Given the description of an element on the screen output the (x, y) to click on. 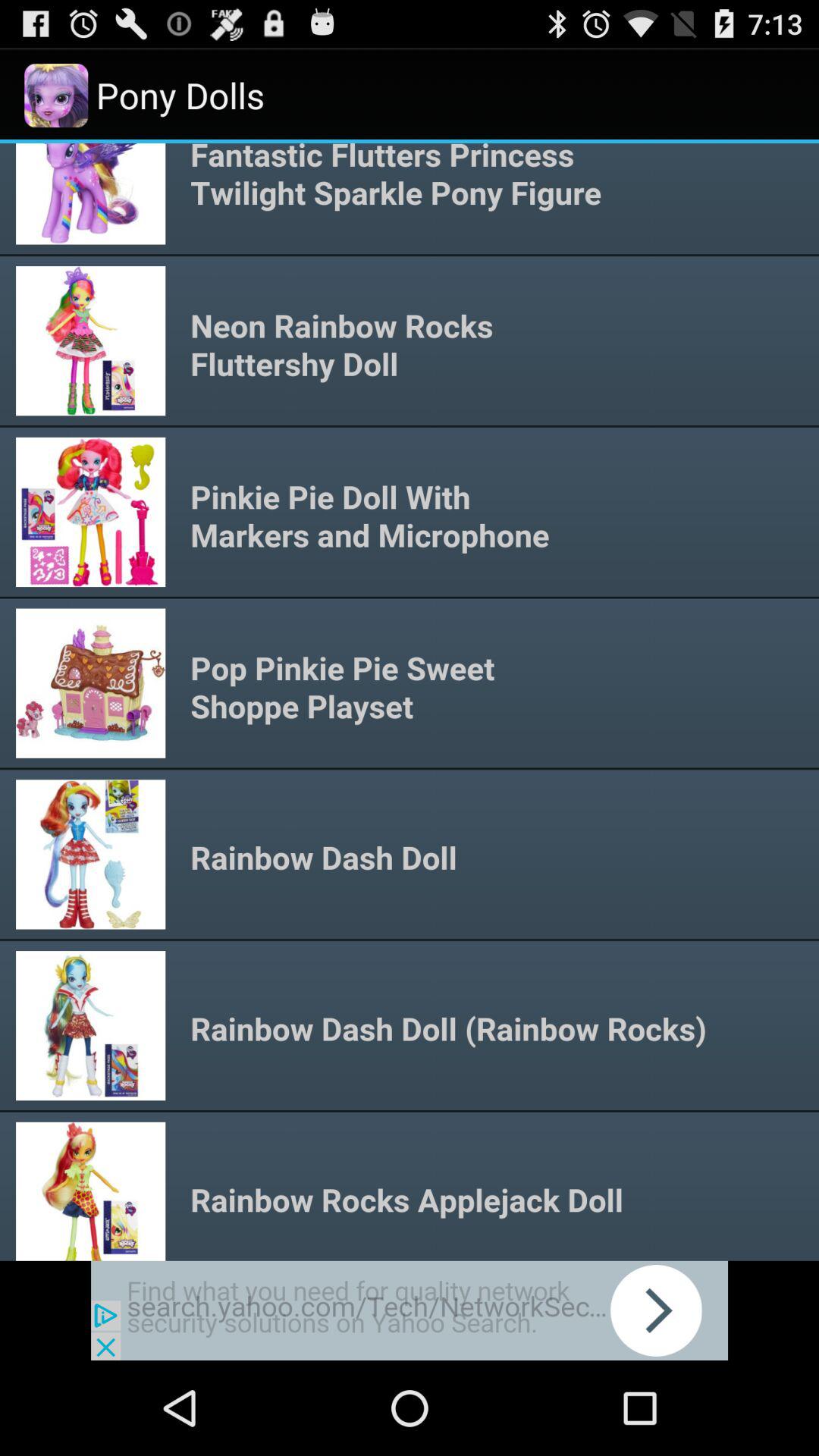
go to advertisement page (409, 1310)
